Given the description of an element on the screen output the (x, y) to click on. 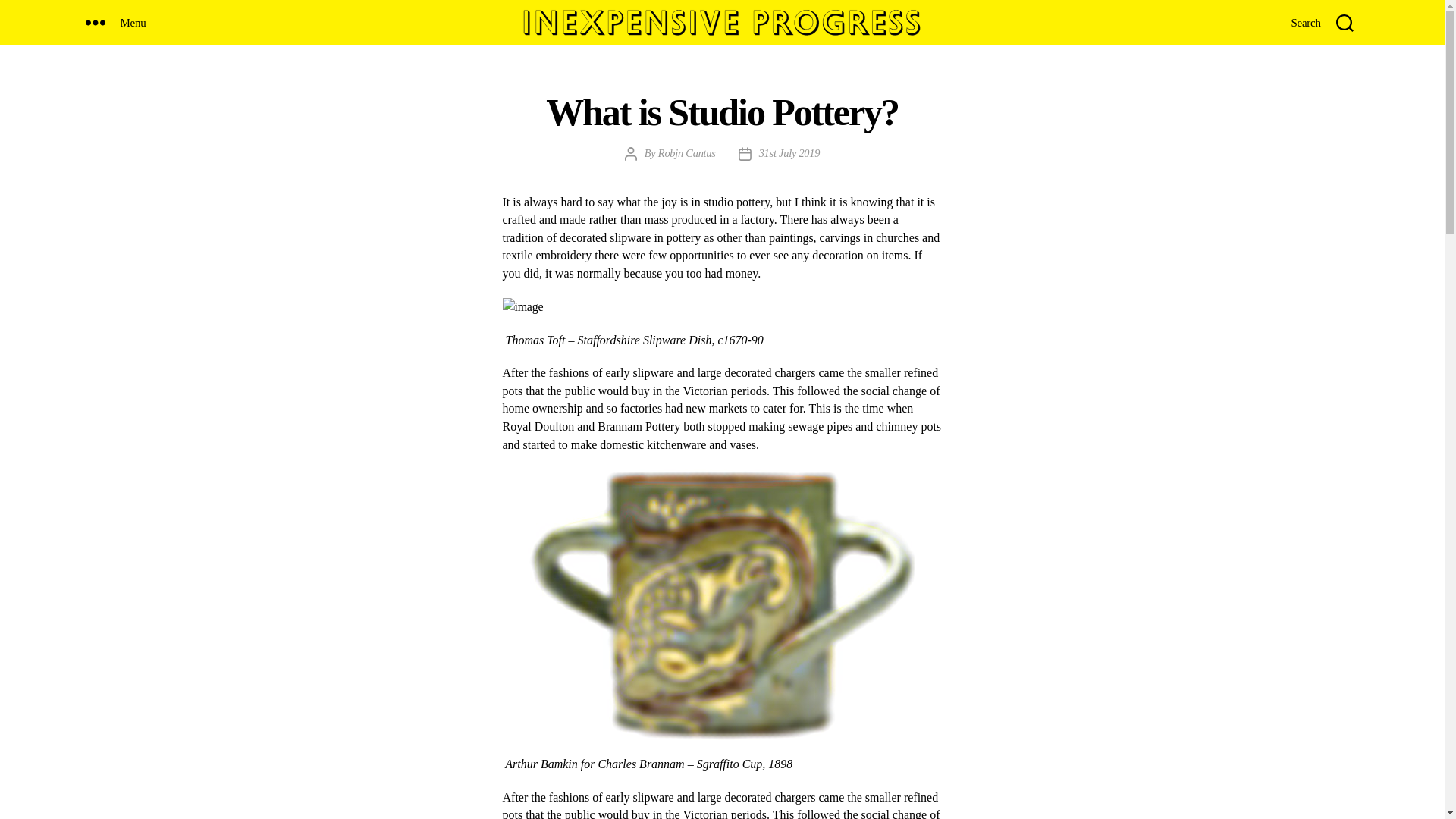
Robjn Cantus (687, 152)
31st July 2019 (789, 152)
Inexpensive Progress (721, 22)
Menu (122, 22)
Search (1321, 22)
